Given the description of an element on the screen output the (x, y) to click on. 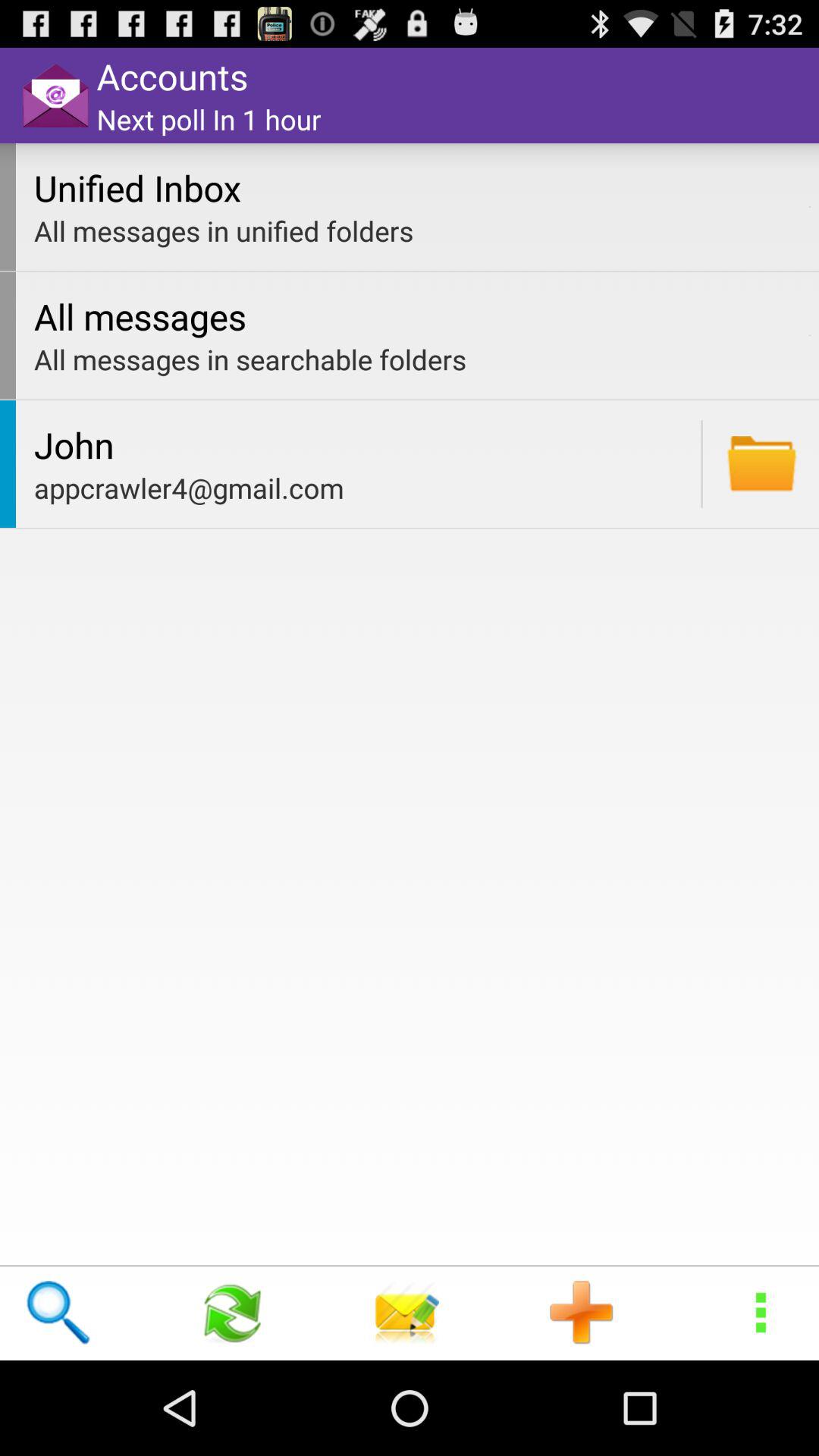
open folder (761, 463)
